Given the description of an element on the screen output the (x, y) to click on. 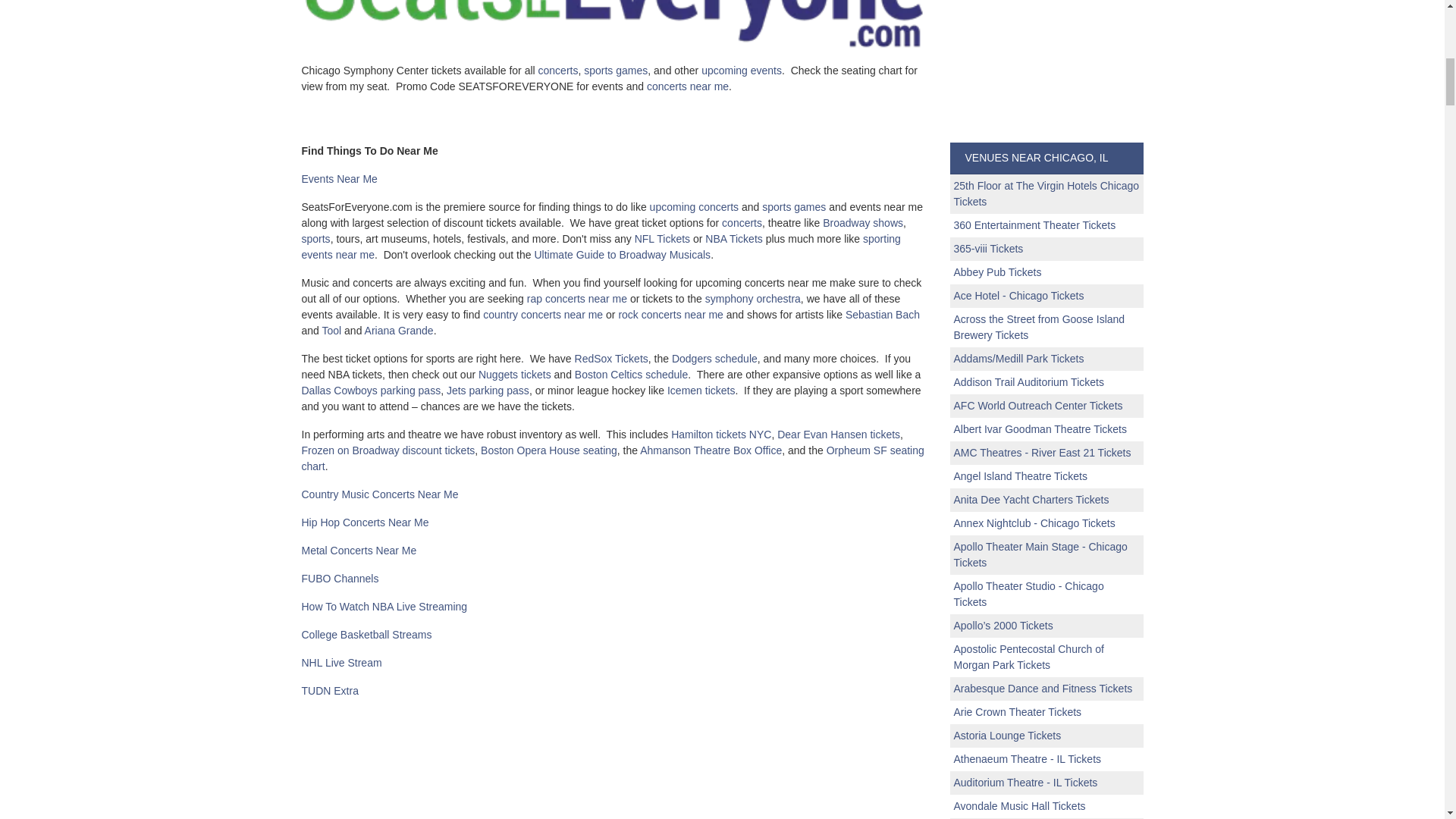
upcoming events (741, 70)
Hamilton tickets NYC (721, 434)
symphony orchestra (752, 298)
Boston Celtics schedule (631, 374)
Advertisement (1045, 67)
rock concerts near me (670, 314)
Nuggets tickets (515, 374)
NBA Tickets (732, 238)
Events Near Me (339, 178)
country concerts near me (542, 314)
RedSox Tickets (611, 358)
Icemen tickets (700, 390)
sports (315, 238)
Jets parking pass (487, 390)
sports games (615, 70)
